Given the description of an element on the screen output the (x, y) to click on. 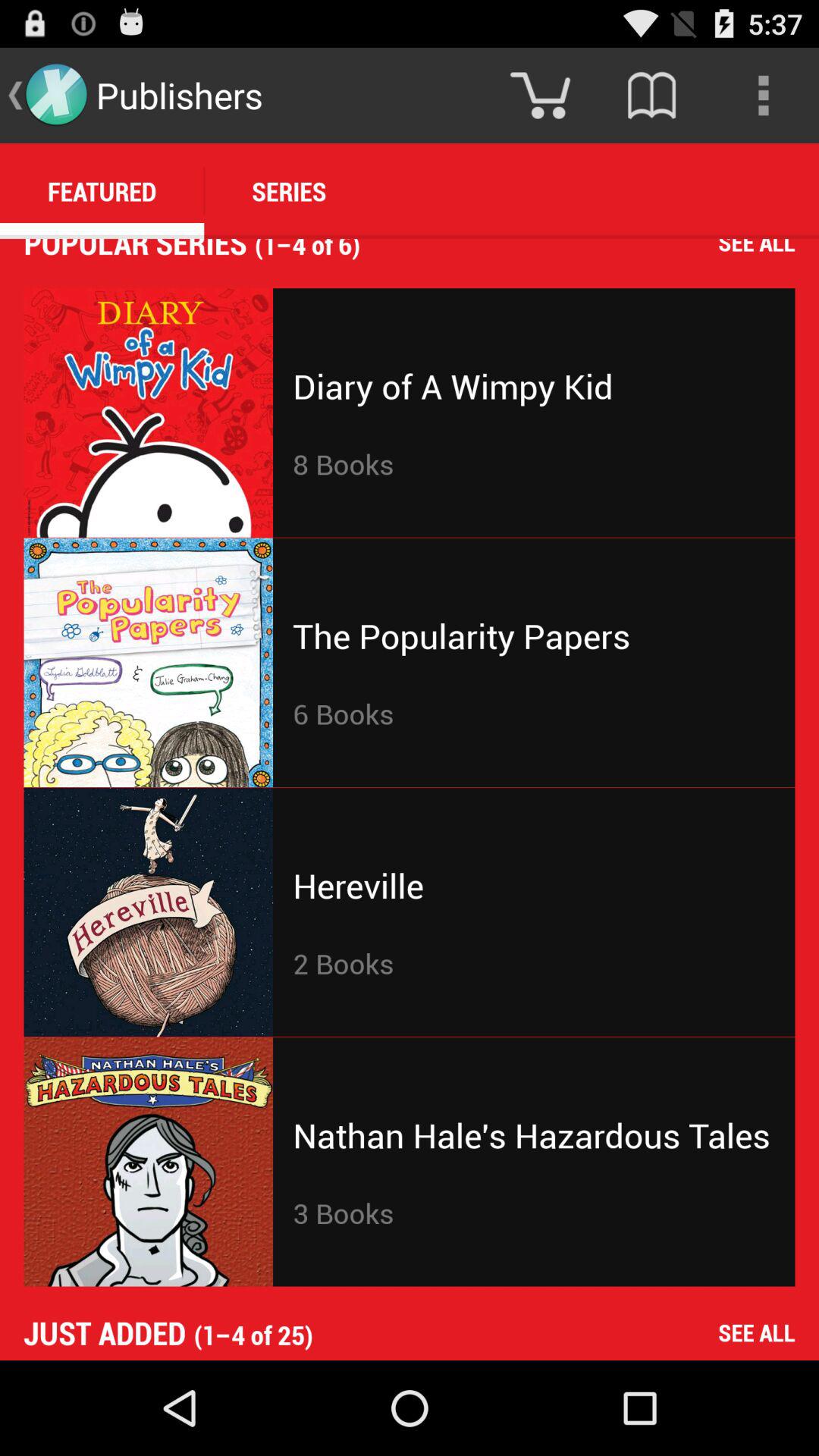
click the featured (102, 190)
